Given the description of an element on the screen output the (x, y) to click on. 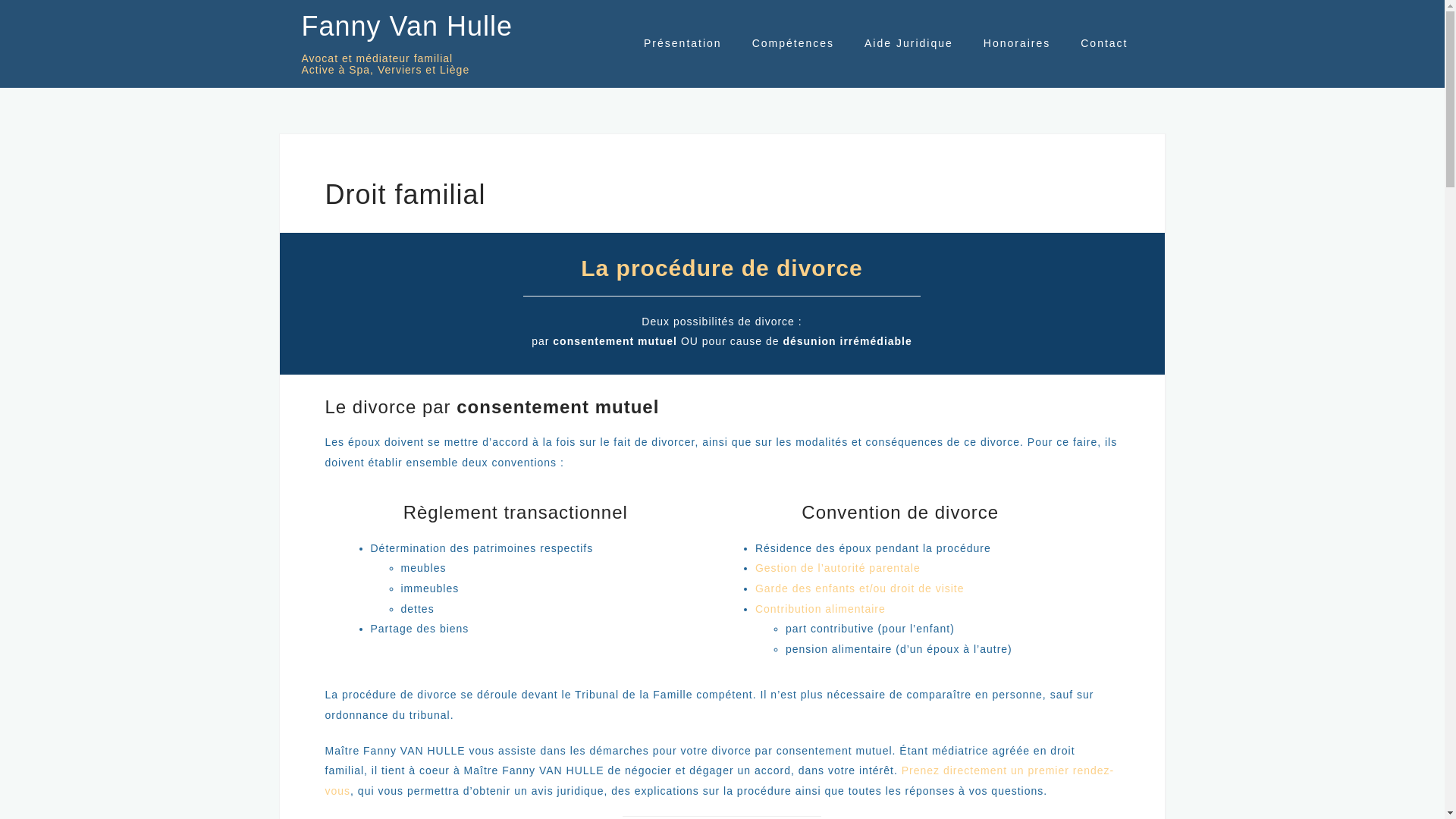
Aide Juridique Element type: text (908, 43)
Garde des enfants et/ou droit de visite Element type: text (859, 588)
Fanny Van Hulle Element type: text (406, 25)
Prenez directement un premier rendez-vous Element type: text (718, 780)
Honoraires Element type: text (1016, 43)
Contact Element type: text (1103, 43)
Skip to content Element type: text (0, 0)
Contribution alimentaire Element type: text (820, 608)
